Given the description of an element on the screen output the (x, y) to click on. 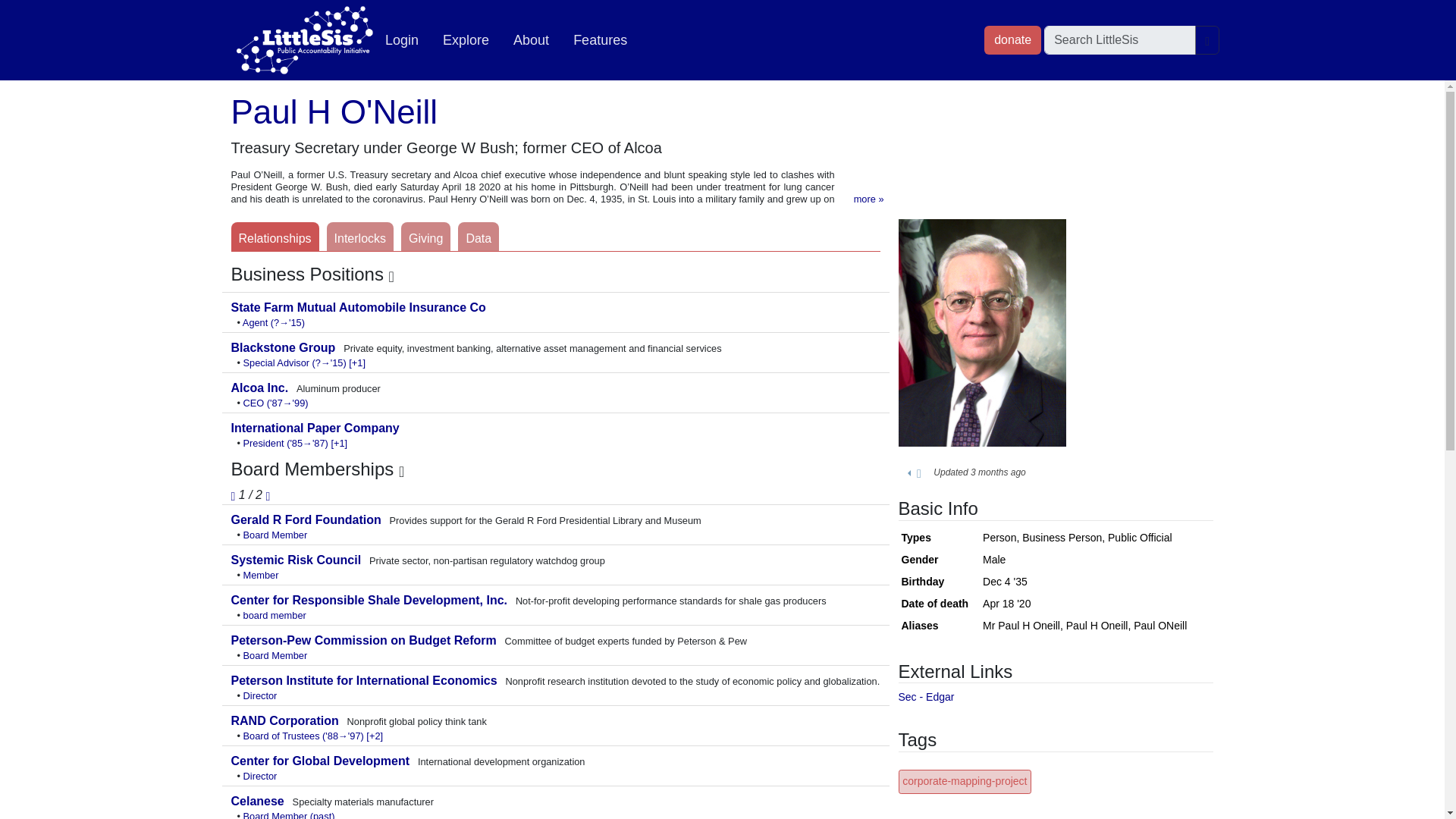
donate (1012, 39)
Aluminum producer (260, 387)
Private sector, non-partisan regulatory watchdog group (297, 559)
Nonprofit global policy think tank (286, 720)
Explore (465, 40)
Features (599, 40)
Login (401, 40)
Specialty materials manufacturer (258, 800)
International development organization (321, 760)
About (530, 40)
